Given the description of an element on the screen output the (x, y) to click on. 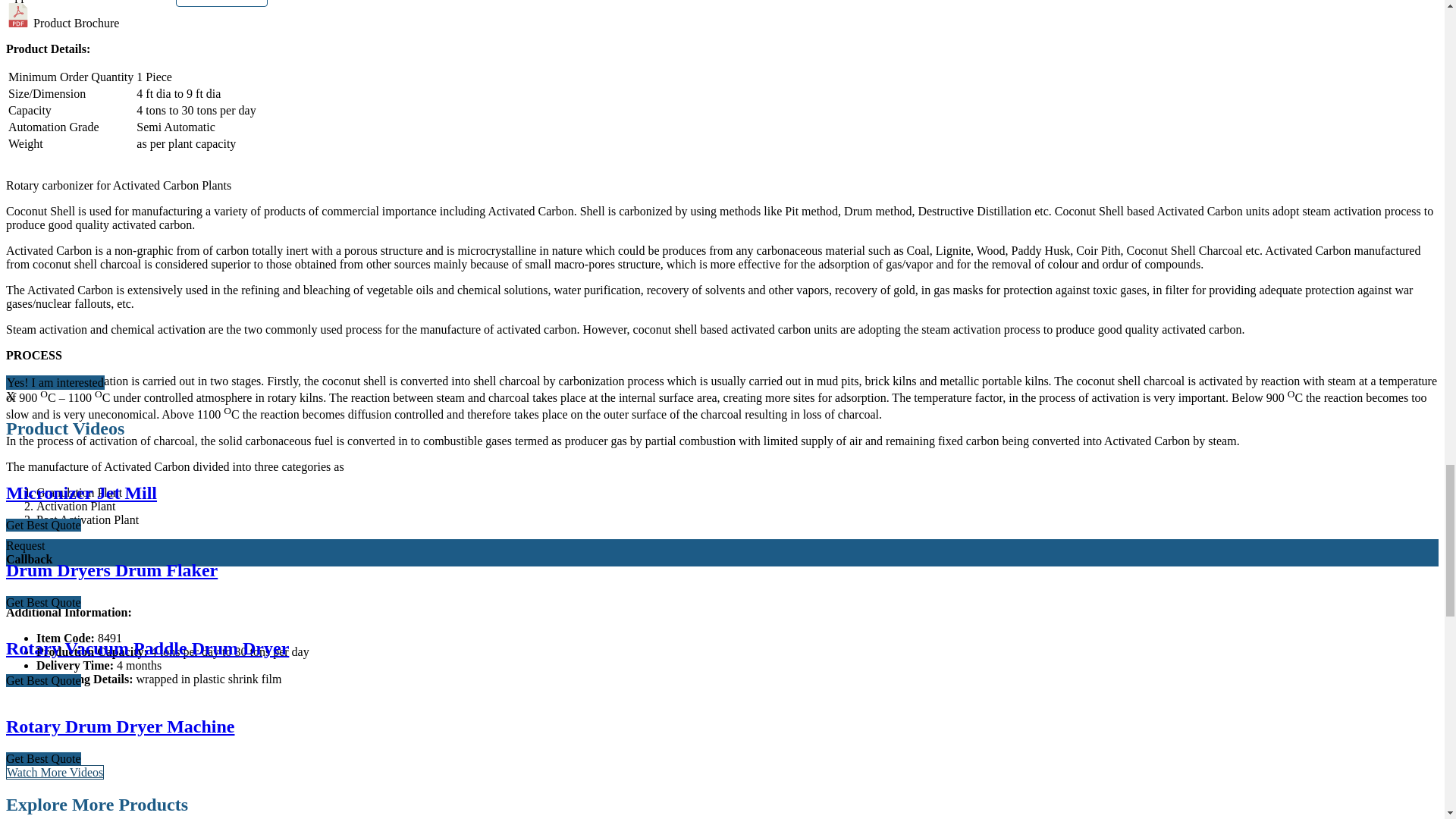
Micronizer Jet Mill (81, 492)
